Given the description of an element on the screen output the (x, y) to click on. 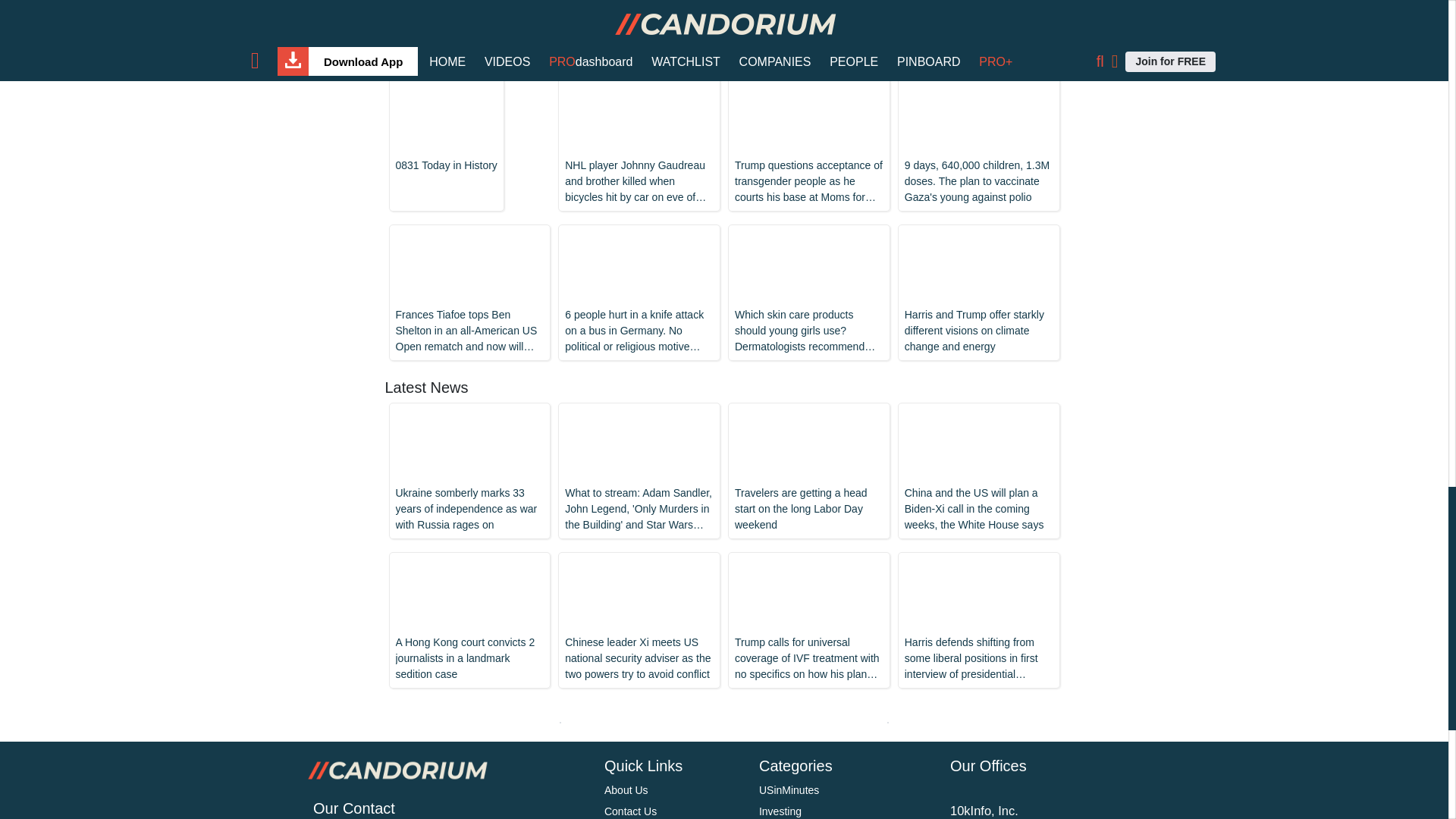
0831 Today in History (446, 130)
